Given the description of an element on the screen output the (x, y) to click on. 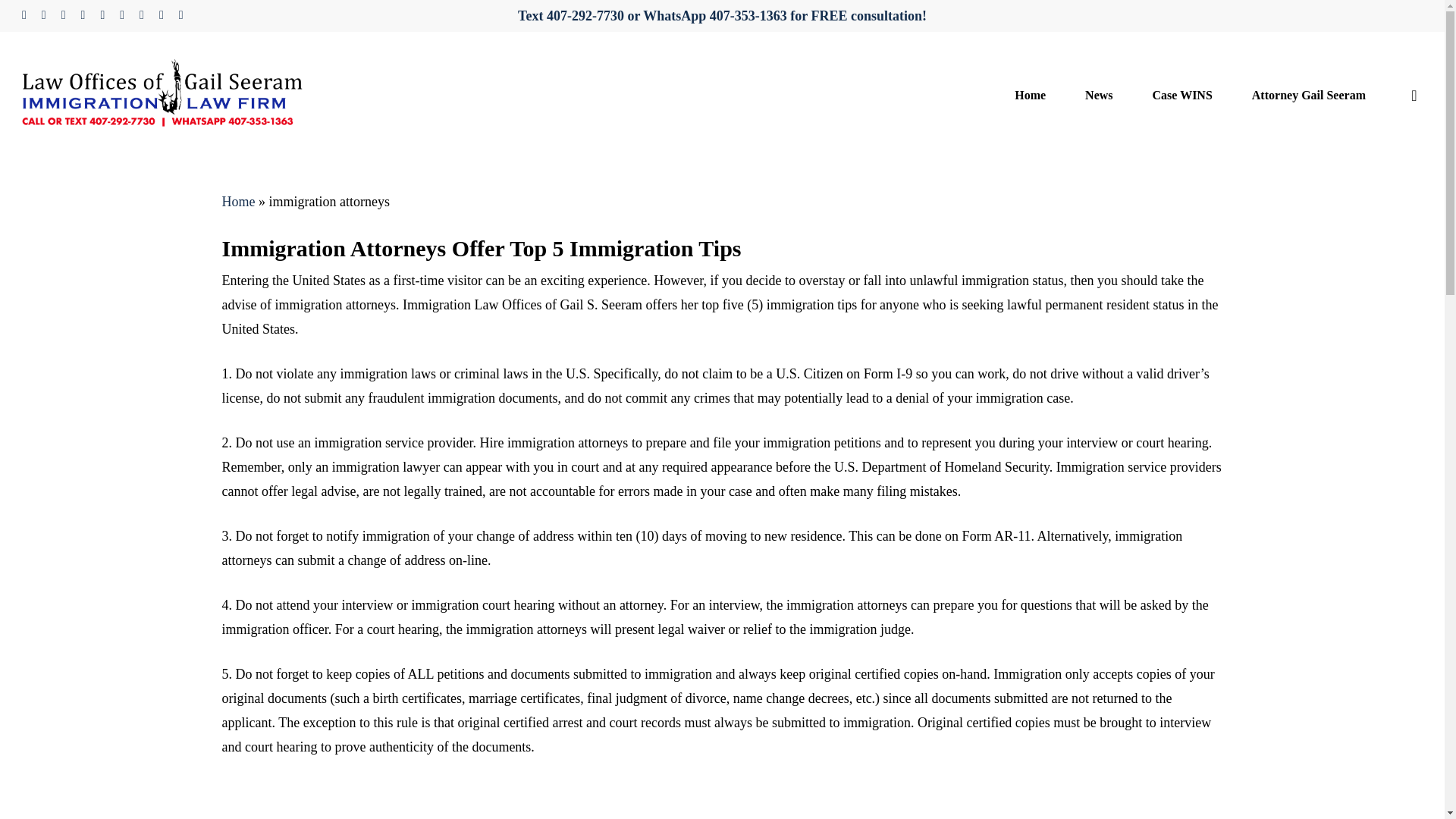
search (1414, 95)
Home (1029, 95)
News (1098, 95)
Case WINS (1182, 95)
Home (237, 201)
Attorney Gail Seeram (1308, 95)
